Given the description of an element on the screen output the (x, y) to click on. 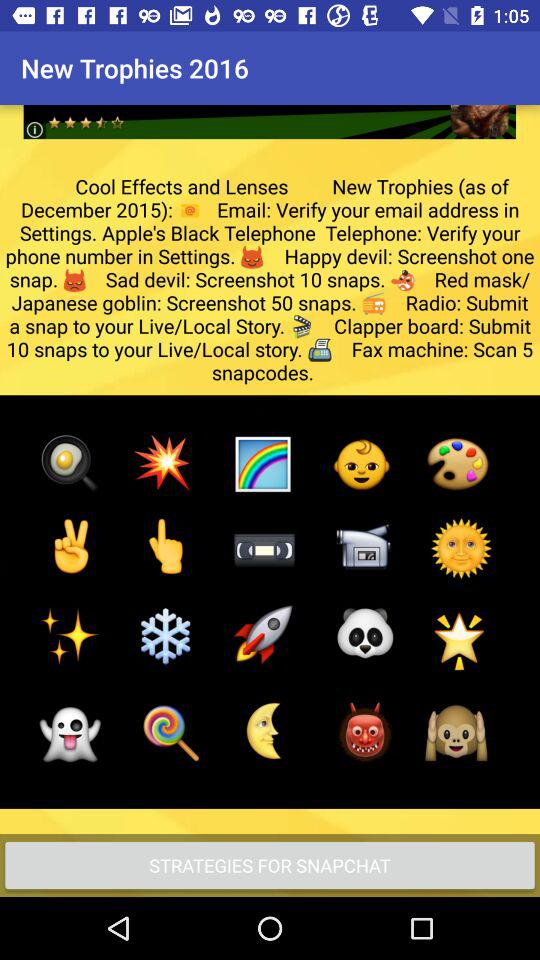
tap the strategies for snapchat item (270, 864)
